Given the description of an element on the screen output the (x, y) to click on. 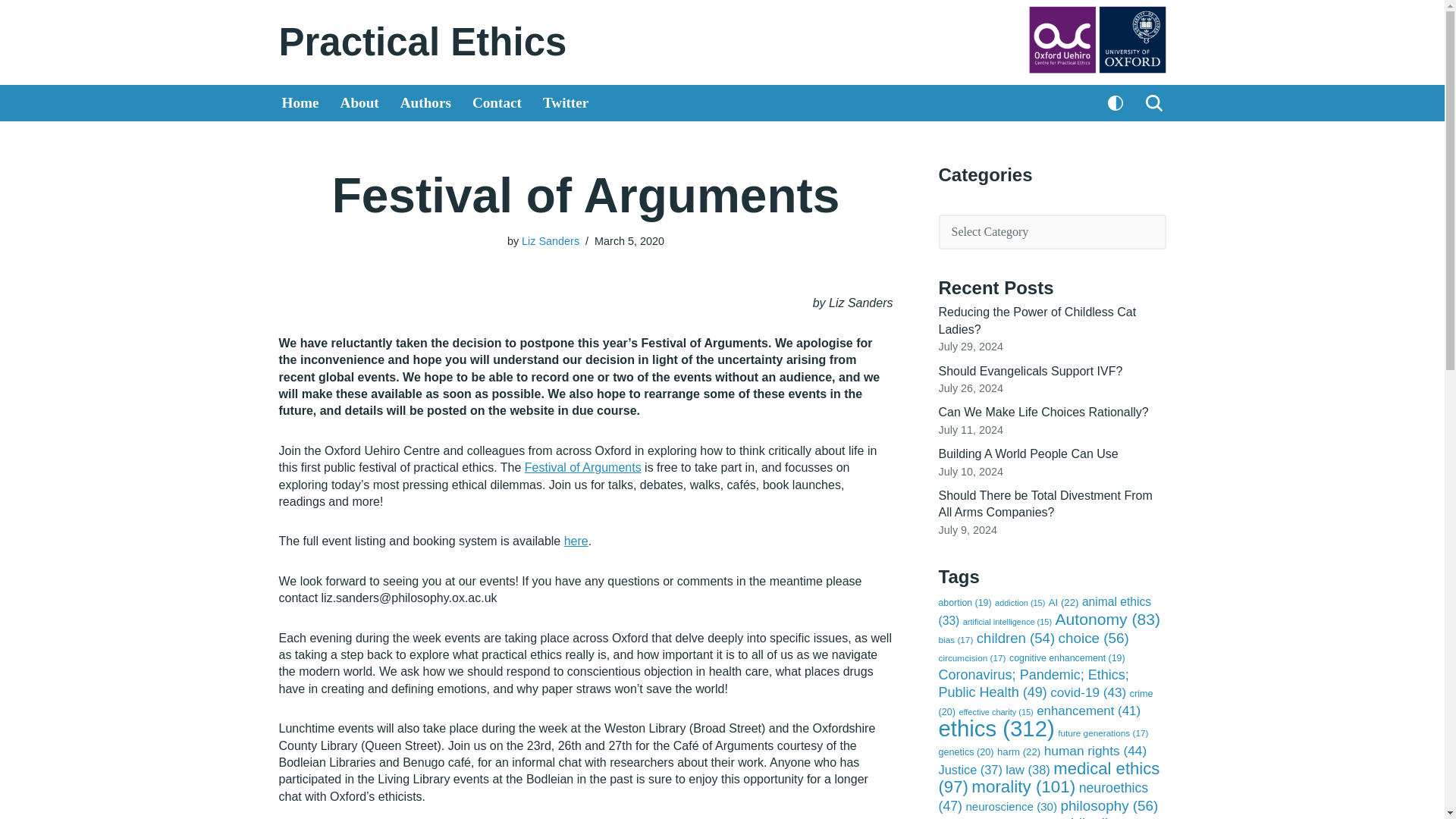
Building A World People Can Use (1028, 453)
Home (300, 102)
Authors (425, 102)
here (576, 540)
Posts by Liz Sanders (550, 241)
Practical Ethics (423, 41)
Reducing the Power of Childless Cat Ladies? (1038, 319)
Contact (496, 102)
Can We Make Life Choices Rationally? (1043, 411)
Twitter (565, 102)
Should Evangelicals Support IVF? (1030, 370)
About (359, 102)
Festival of Arguments (583, 467)
Liz Sanders (550, 241)
Skip to content (11, 31)
